Given the description of an element on the screen output the (x, y) to click on. 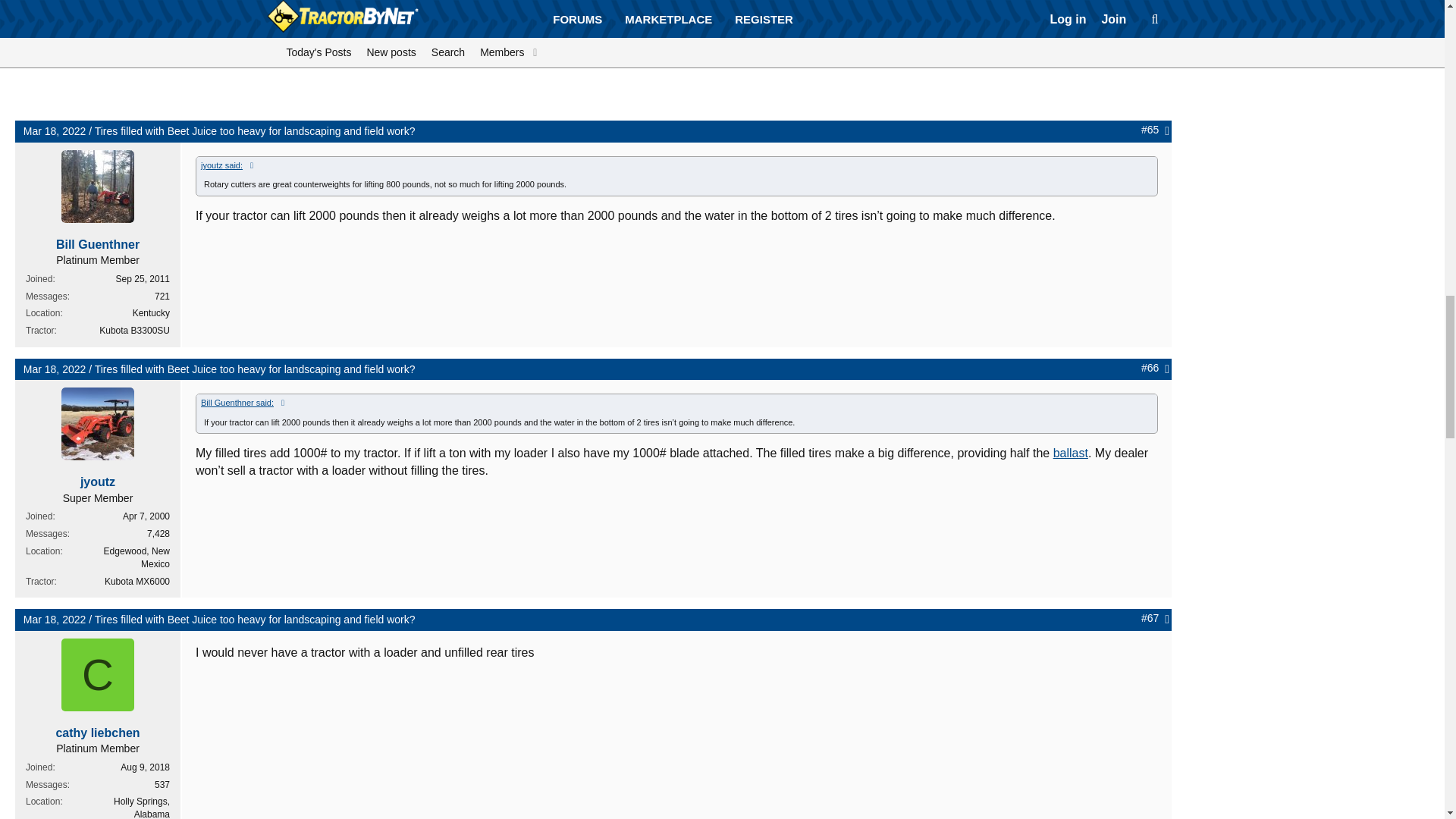
Mar 18, 2022 at 8:52 AM (54, 131)
Mar 18, 2022 at 9:10 AM (54, 369)
Mar 18, 2022 at 10:49 PM (54, 619)
